Given the description of an element on the screen output the (x, y) to click on. 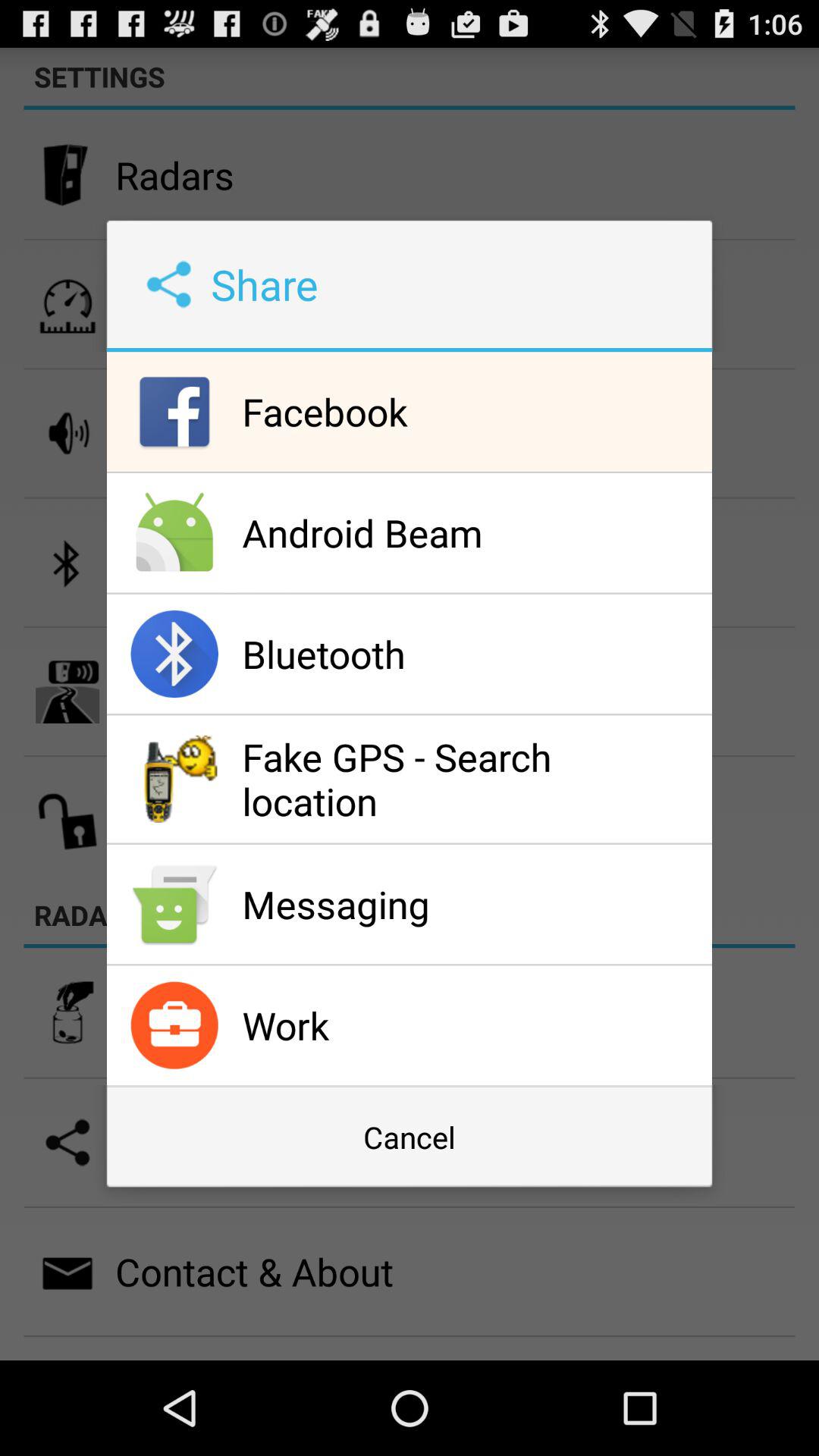
tap the messaging icon (473, 903)
